Given the description of an element on the screen output the (x, y) to click on. 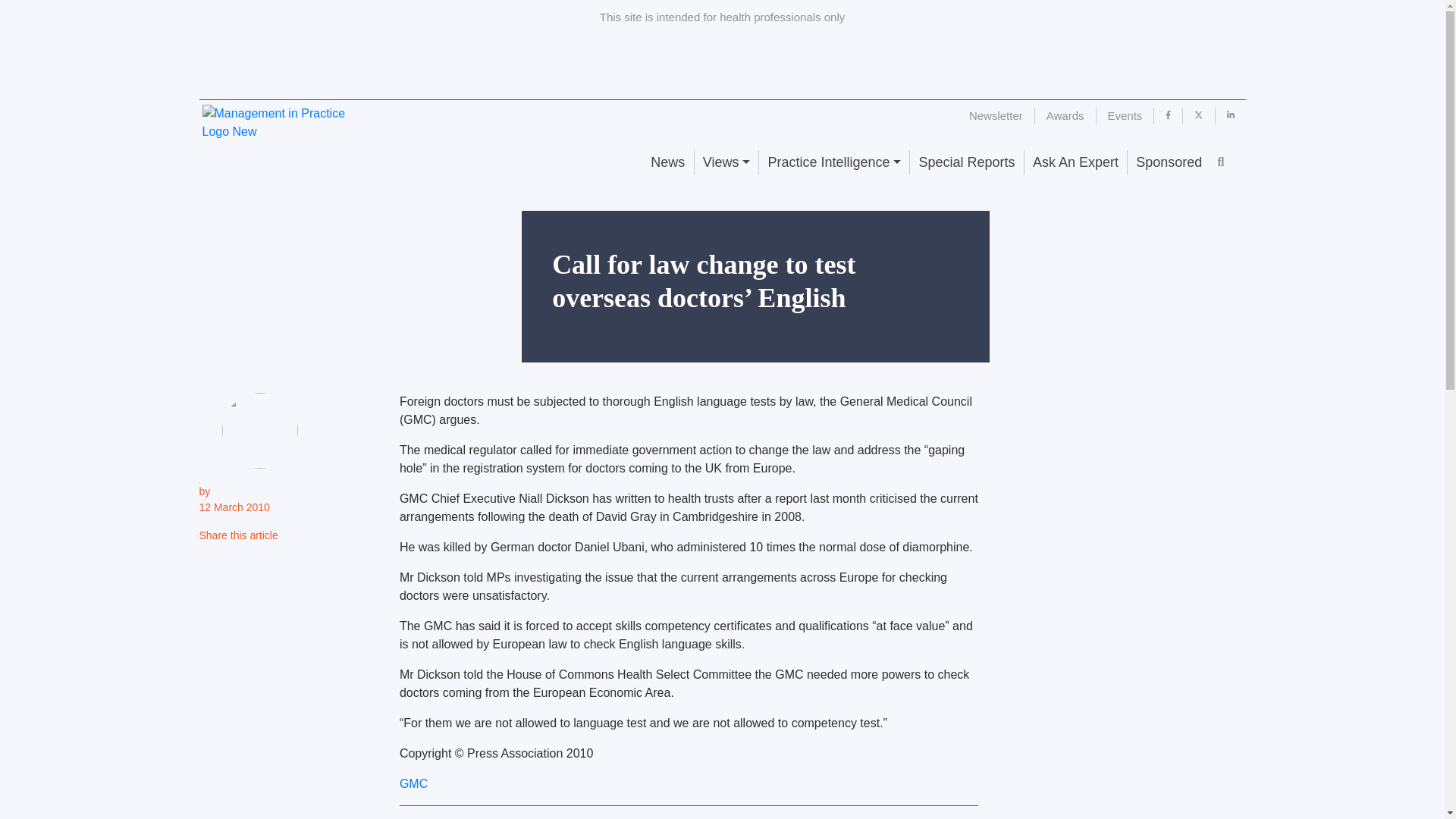
Newsletter (996, 115)
Ask An Expert (1075, 162)
Practice Intelligence (833, 162)
Sponsored (1167, 162)
Events (1125, 115)
Special Reports (966, 162)
News (667, 162)
Awards (1065, 115)
Views (726, 162)
